Given the description of an element on the screen output the (x, y) to click on. 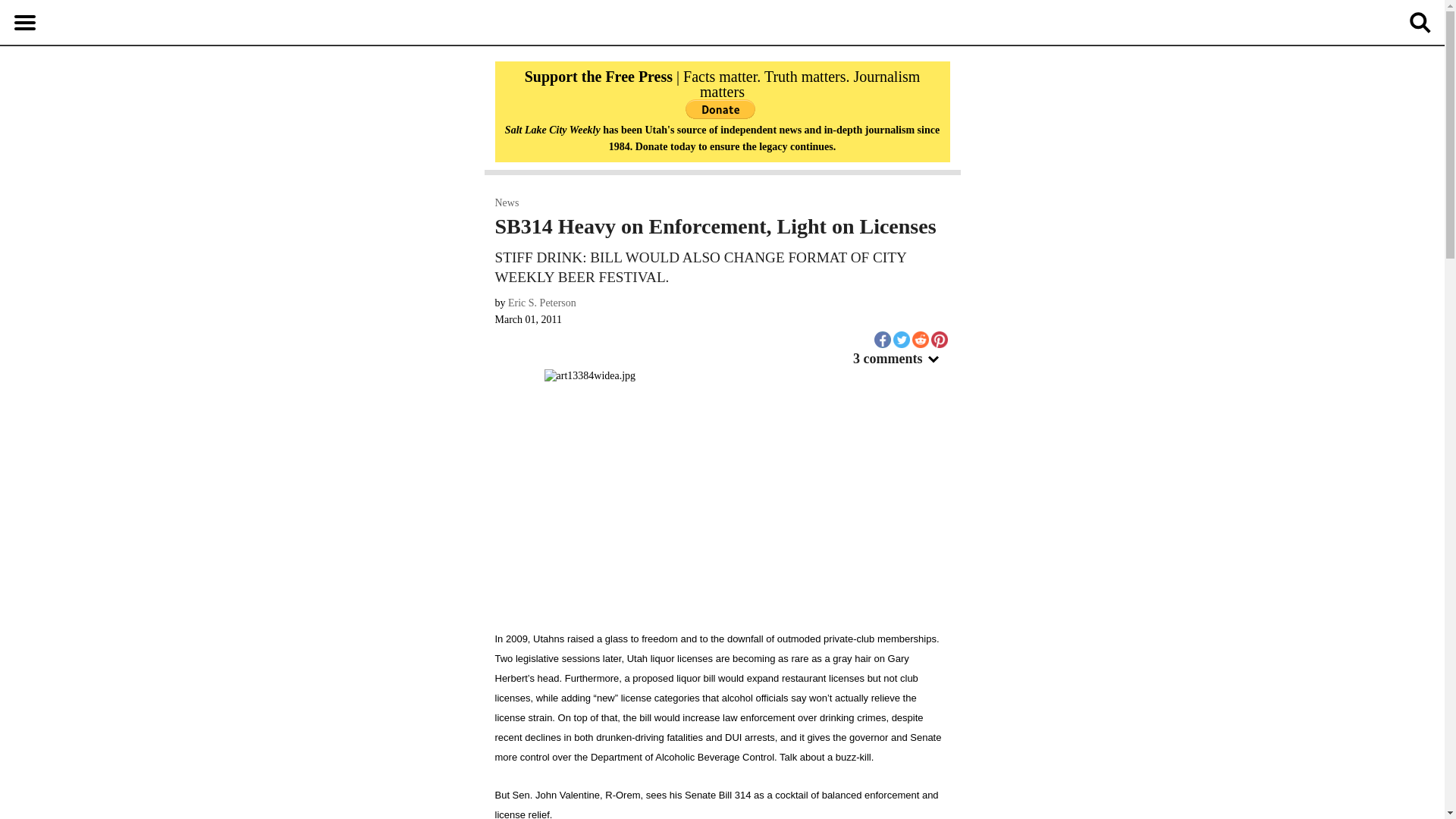
News (506, 202)
Reddit (919, 339)
Pinterest (939, 339)
Facebook (881, 339)
MENU (23, 22)
Eric S. Peterson (542, 302)
SEARCH (1419, 22)
PayPal - The safer, easier way to pay online! (720, 108)
Salt Lake City Weekly (722, 22)
Twitter (901, 339)
